Given the description of an element on the screen output the (x, y) to click on. 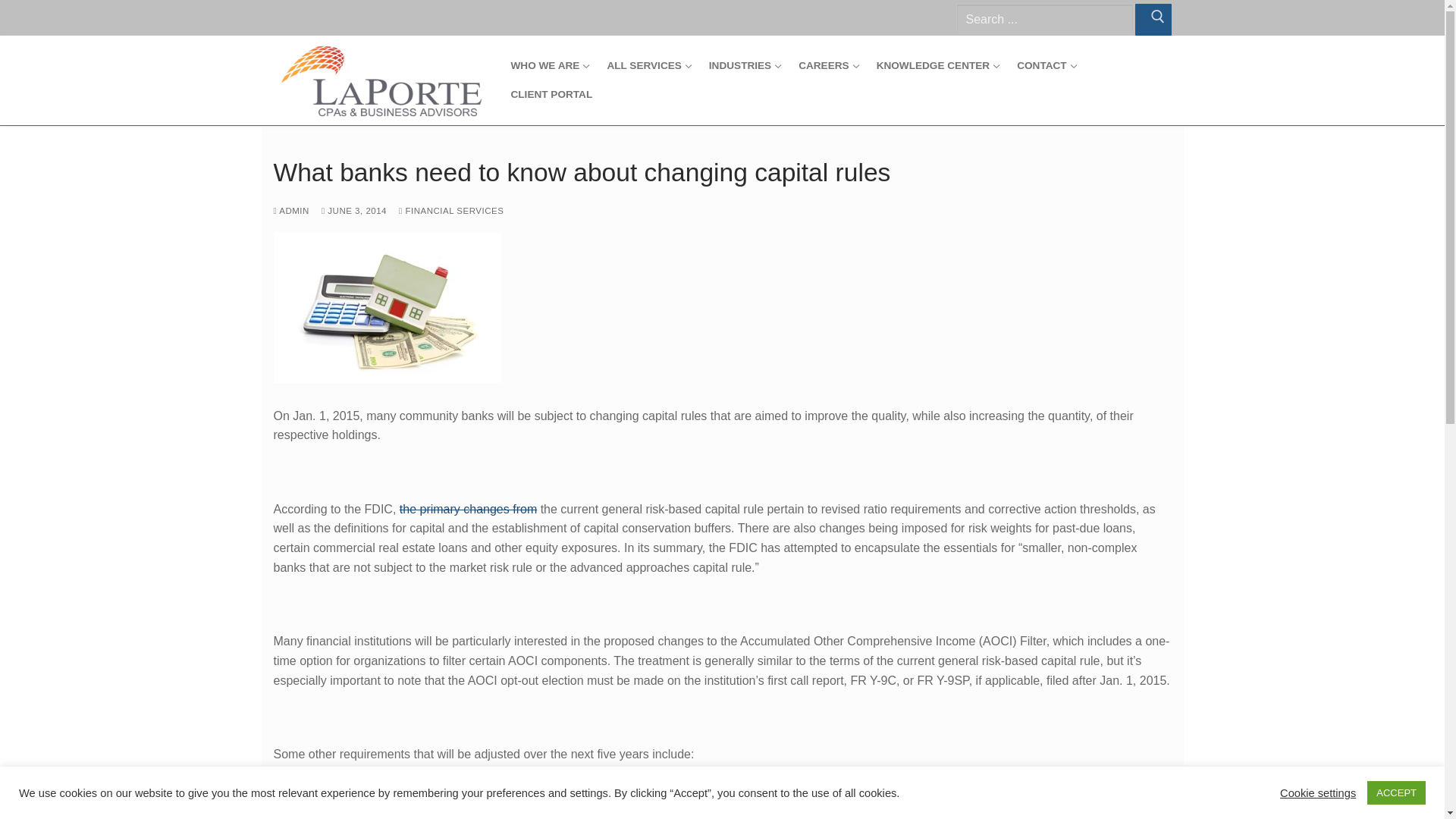
Who We Are (548, 65)
All Services (647, 65)
Search for: (1044, 19)
